Given the description of an element on the screen output the (x, y) to click on. 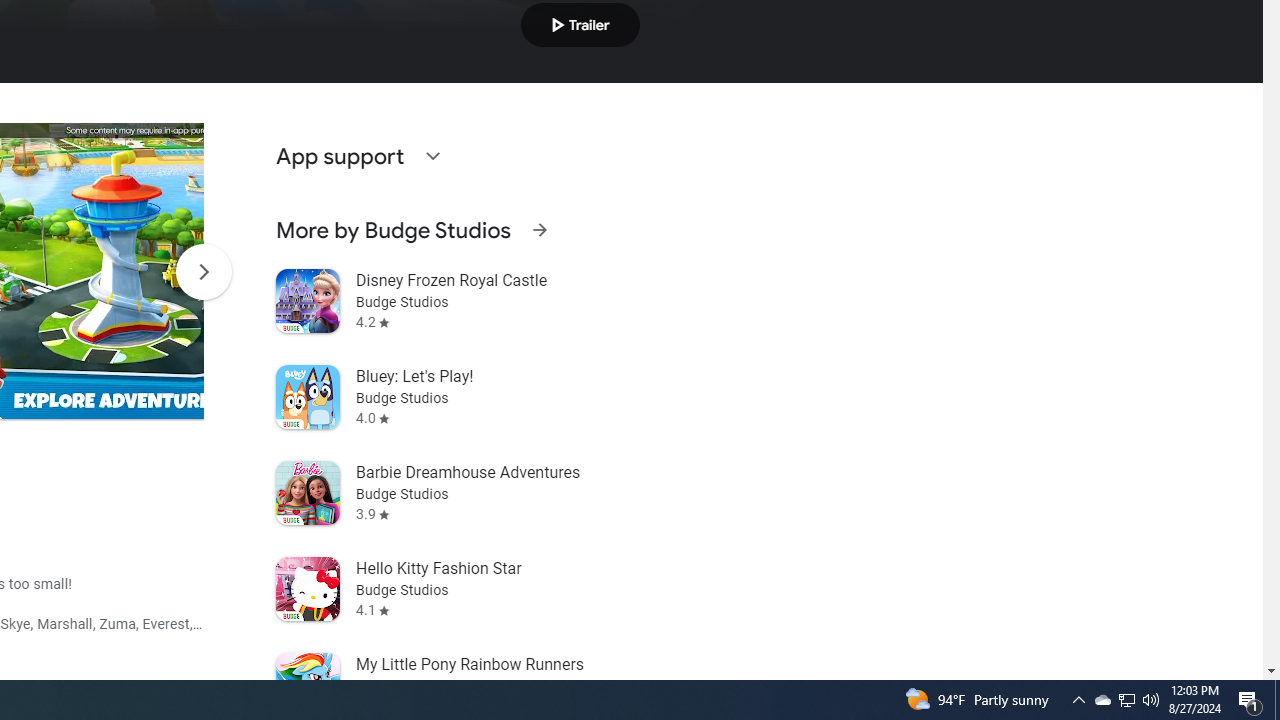
See more information on More by Budge Studios (539, 229)
Play trailer (580, 24)
Expand (432, 155)
Scroll Next (203, 272)
